Given the description of an element on the screen output the (x, y) to click on. 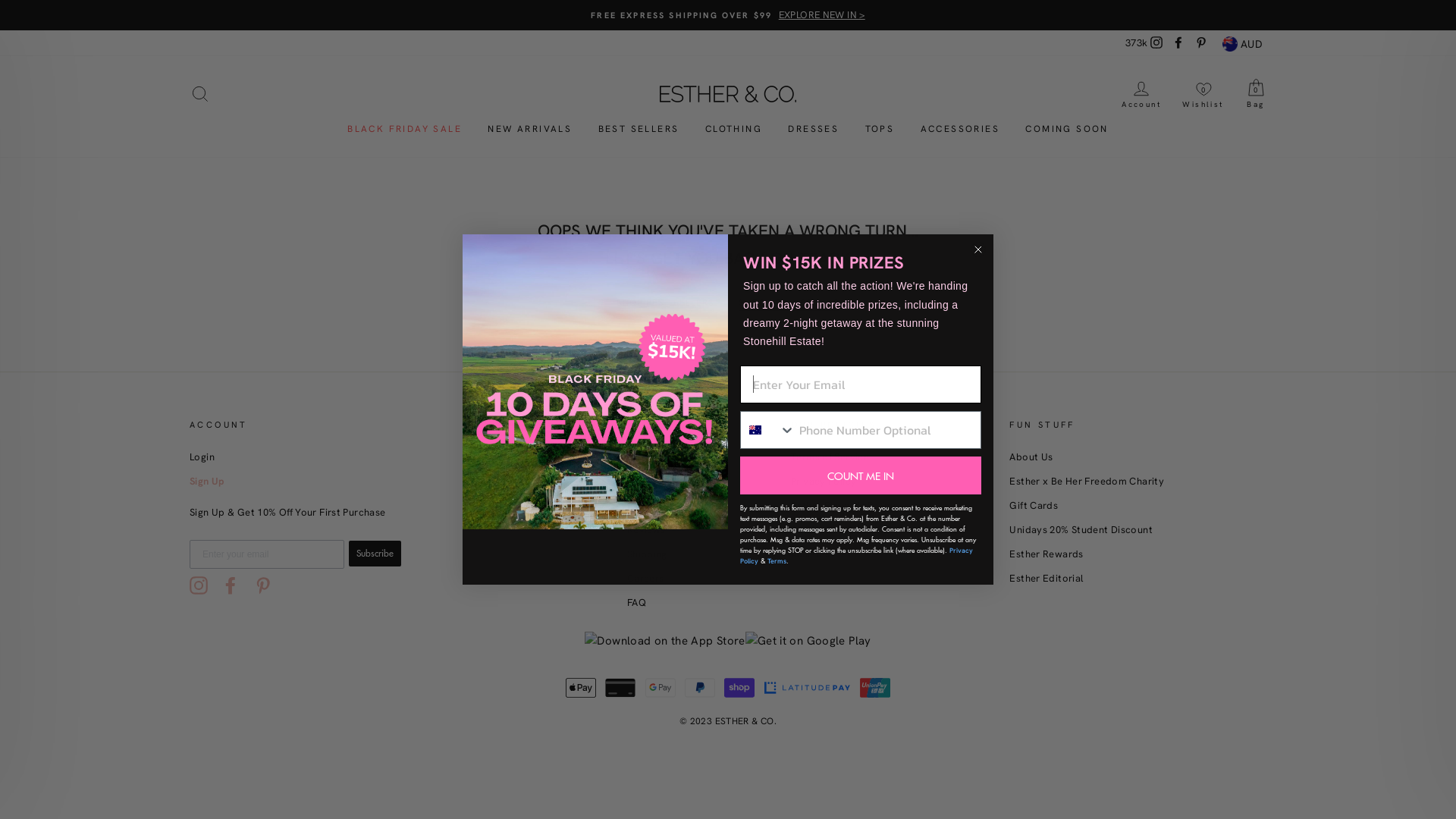
Privacy Policy Element type: text (823, 481)
Pinterest Element type: text (1201, 43)
SHOP BEST SELLERS Element type: text (665, 302)
Wishlist
0 Element type: text (1202, 93)
FREE EXPRESS SHIPPING OVER $99 EXPLORE NEW IN > Element type: text (727, 14)
Skip to content Element type: text (0, 0)
Sign Up Element type: text (206, 481)
BEST SELLERS Element type: text (638, 128)
SEARCH Element type: text (199, 93)
Submit Element type: text (25, 15)
CLOTHING Element type: text (733, 128)
Privacy Policy Element type: text (856, 555)
Subscribe Element type: text (374, 553)
DRESSES Element type: text (813, 128)
Facebook Element type: text (1178, 43)
Esther Rewards Element type: text (1045, 554)
Reviews Element type: text (646, 530)
Login Element type: text (201, 457)
ACCESSORIES Element type: text (959, 128)
373k
Instagram Element type: text (1143, 43)
Account Element type: text (1141, 93)
AUD Element type: text (1242, 43)
Facebook Element type: text (230, 585)
Unidays 20% Student Discount Element type: text (1080, 530)
Bag
0 Element type: text (1255, 93)
Esther Editorial Element type: text (1045, 578)
Affiliates Element type: text (810, 554)
Contact Us Element type: text (653, 457)
COUNT ME IN Element type: text (860, 475)
US & Canada Element type: text (492, 457)
Esther x Be Her Freedom Charity Element type: text (1086, 481)
Careers Element type: text (645, 578)
Gift Cards Element type: text (1033, 506)
Rest of World Element type: text (494, 481)
TOPS Element type: text (879, 128)
COMING SOON Element type: text (1066, 128)
Instagram Element type: text (198, 585)
Returns Information Element type: text (673, 506)
BLACK FRIDAY SALE Element type: text (404, 128)
SHOP NEW ARRIVALS Element type: text (788, 302)
Submit Element type: text (23, 14)
Terms Element type: text (776, 560)
Terms of Service Element type: text (829, 457)
bfcm2023image Element type: hover (595, 409)
FAQ Element type: text (636, 603)
Buy Now, Pay Later Element type: text (835, 530)
Shipping Element type: text (647, 554)
Esther Rewards Policy Element type: text (842, 506)
Pinterest Element type: text (263, 585)
Track Your Order Element type: text (667, 481)
About Us Element type: text (1030, 457)
NEW ARRIVALS Element type: text (529, 128)
Australia Element type: hover (755, 429)
